Given the description of an element on the screen output the (x, y) to click on. 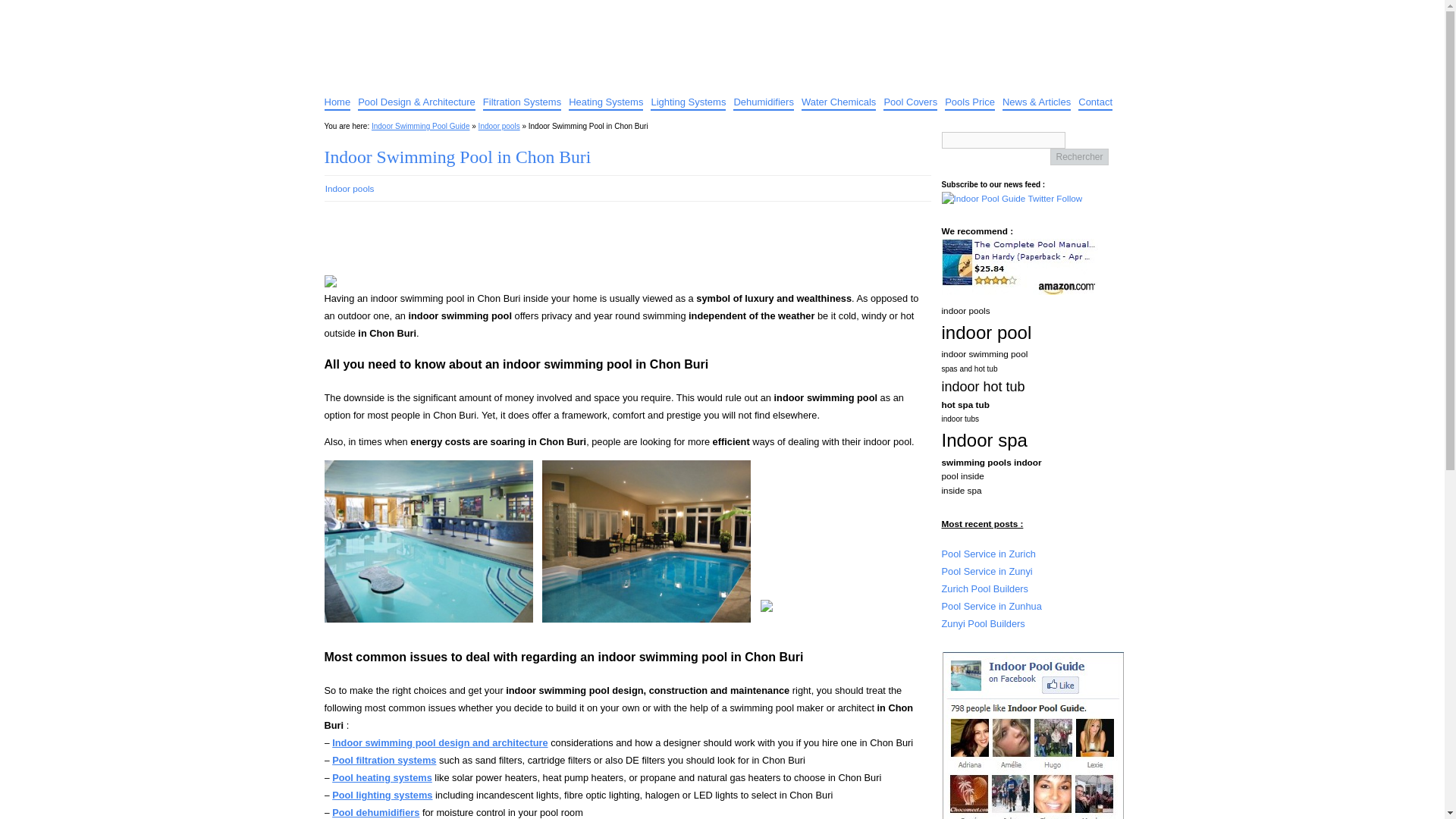
Indoor Swimming Pool in Chon Buri (457, 157)
Indoor pools (349, 188)
Pools Price (969, 100)
Zunyi Pool Builders (983, 623)
Pool lighting systems (381, 794)
Indoor Swimming Pool Guide (457, 14)
Contact (1095, 100)
Dehumidifiers (763, 100)
Pool dehumidifiers (375, 812)
Rechercher (1078, 156)
